Given the description of an element on the screen output the (x, y) to click on. 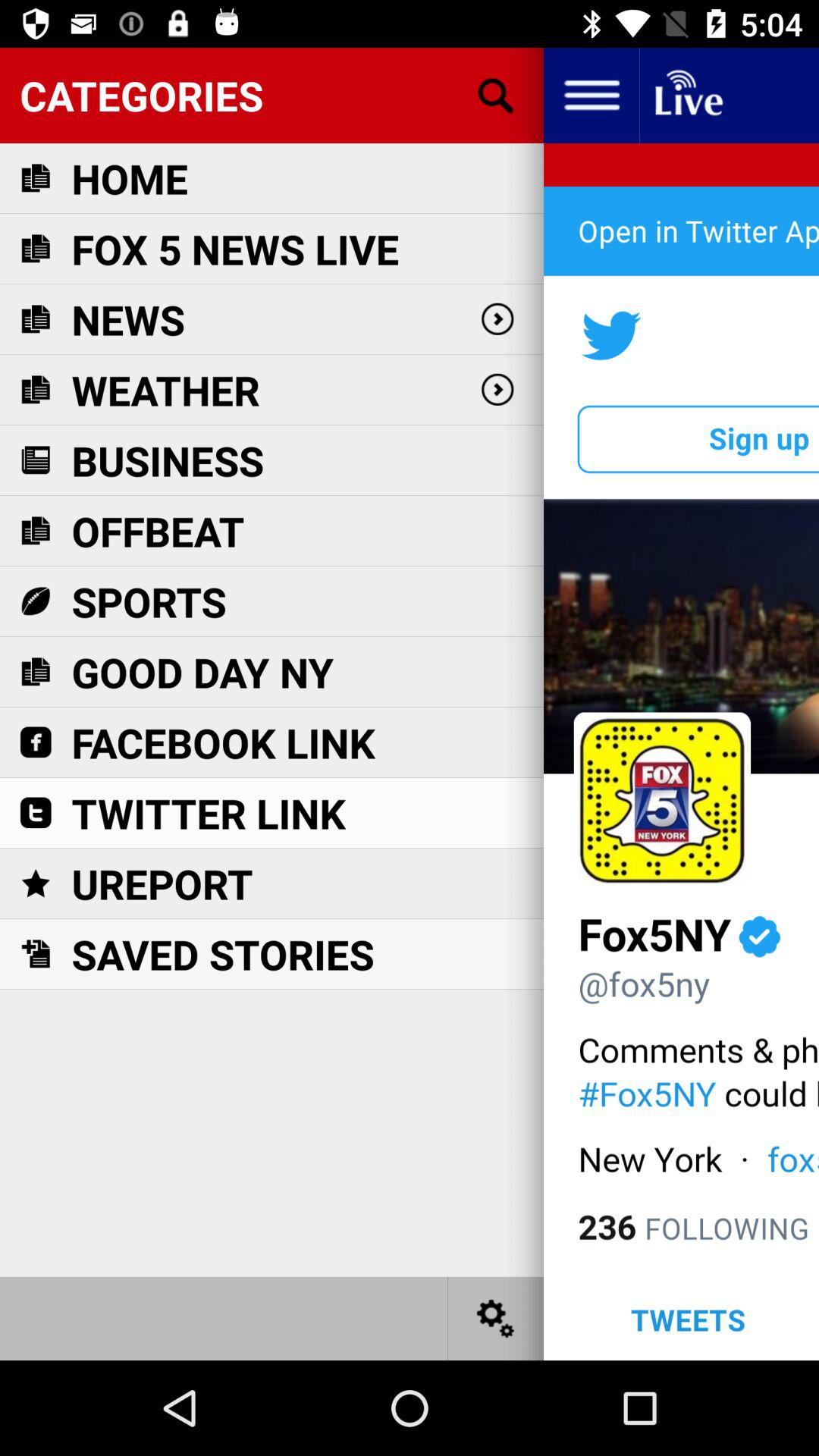
scroll to home icon (129, 177)
